Given the description of an element on the screen output the (x, y) to click on. 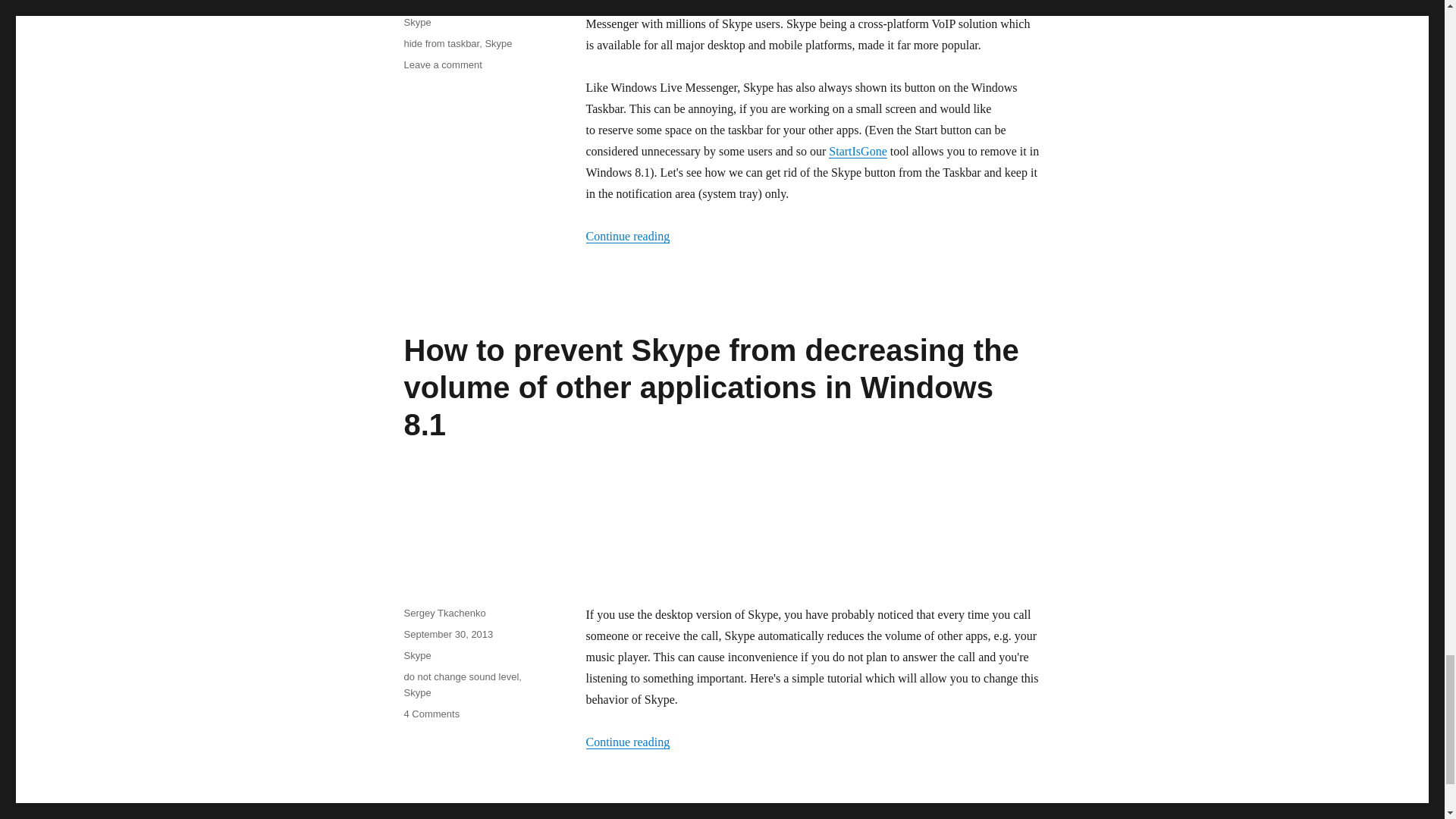
How to remove the Start button in Windows 8.1 (857, 151)
